Given the description of an element on the screen output the (x, y) to click on. 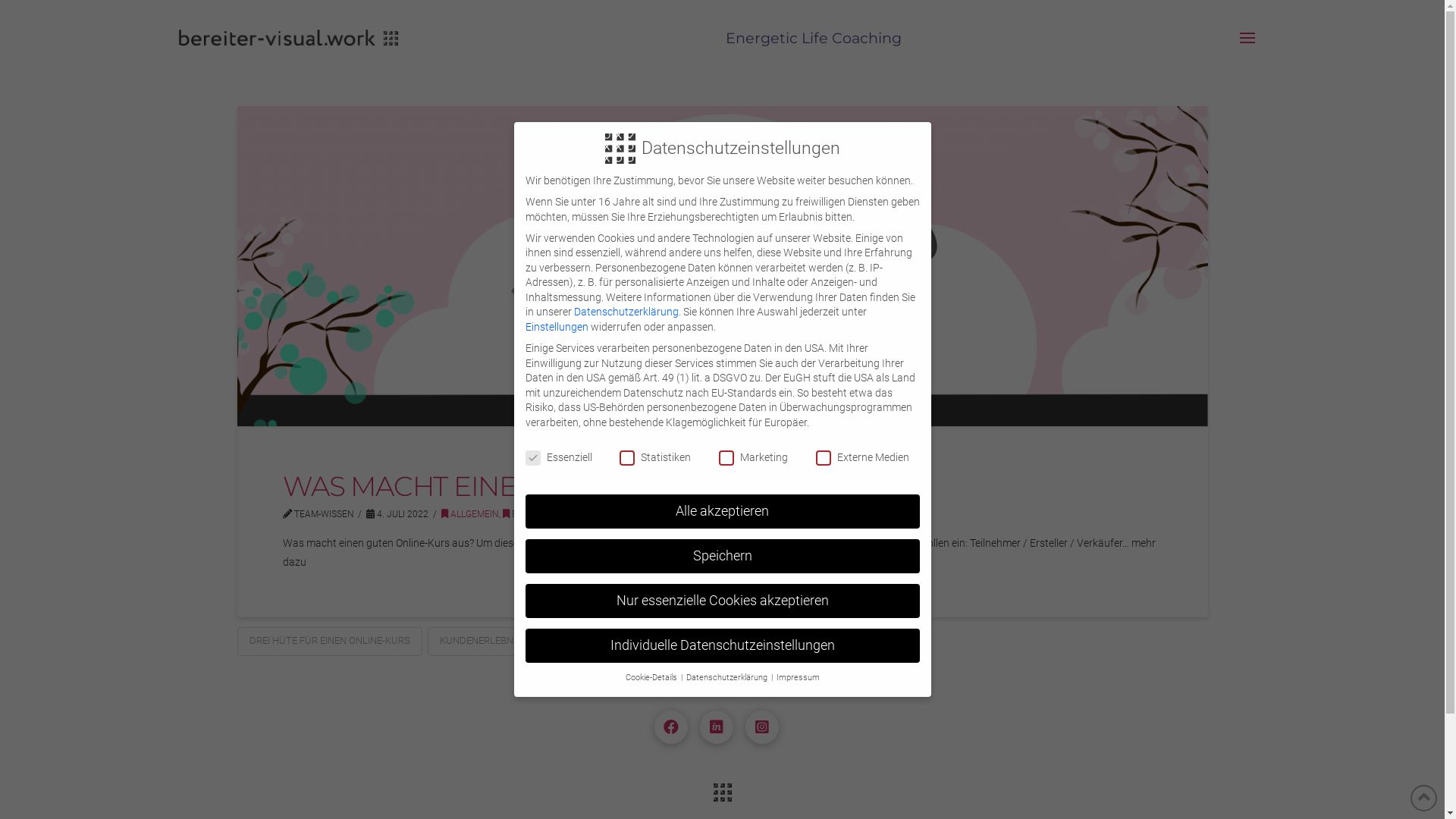
ALLGEMEIN Element type: text (469, 513)
Impressum Element type: text (797, 677)
Einstellungen Element type: text (555, 326)
BLOG ONLINE-KURSE Element type: text (550, 513)
Back to Top Element type: hover (1423, 797)
WAS MACHT EINEN GUTEN ONLINE KURS AUS? Element type: text (589, 485)
ONLINE-KURS ERSTELLER Element type: text (852, 641)
ONLINE-KURS Element type: text (734, 641)
Permalink to: "WAS MACHT EINEN GUTEN ONLINE KURS AUS?" Element type: hover (721, 266)
Speichern Element type: text (721, 556)
Nur essenzielle Cookies akzeptieren Element type: text (721, 600)
KUNDENERLEBNISSE Element type: text (486, 641)
Cookie-Details Element type: text (651, 677)
Individuelle Datenschutzeinstellungen Element type: text (721, 645)
Alle akzeptieren Element type: text (721, 511)
KUNDENZUFRIEDENHEIT Element type: text (618, 641)
